Given the description of an element on the screen output the (x, y) to click on. 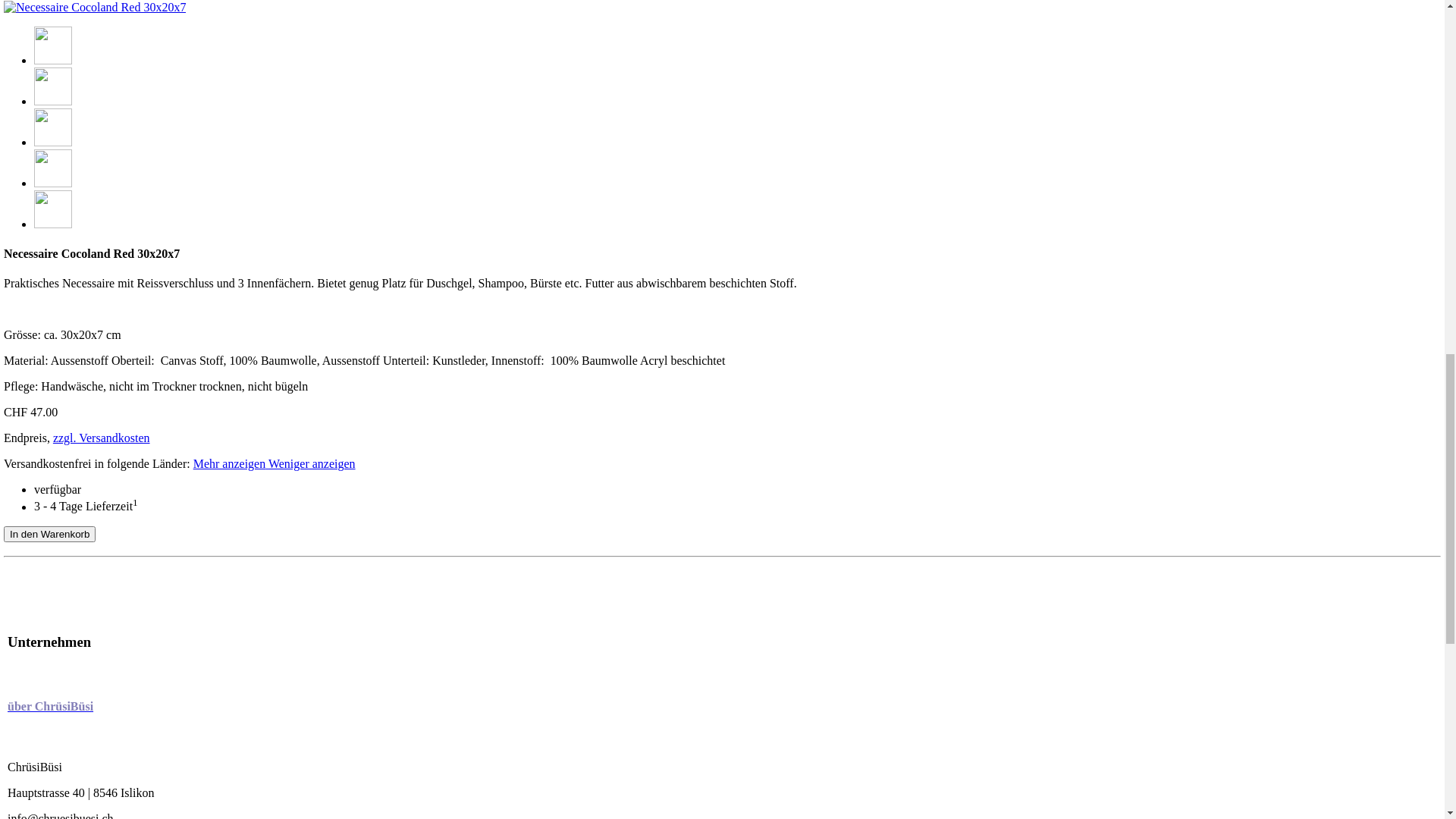
Geschenkgutscheine Element type: text (110, 606)
Fremdfabrikate Element type: text (97, 169)
Taschen Element type: text (49, 142)
Wohnen Element type: text (50, 183)
Adventskalender Element type: text (101, 483)
Necessaires S Element type: text (124, 74)
Etuis Element type: text (72, 128)
Necessaires S Element type: text (63, 793)
grosse Necessaires Element type: text (136, 429)
Taschen & Gym Bags Element type: text (113, 374)
Necessaires Element type: text (89, 60)
Ed the Cat Element type: text (86, 511)
Socken Element type: text (78, 319)
kleine Necessaires Element type: text (136, 401)
Kontakt Element type: text (80, 592)
Wohnen Element type: text (50, 673)
Hundefans Element type: text (56, 360)
Aktuelles Element type: text (53, 714)
Schilder Element type: text (80, 251)
Home Element type: text (44, 33)
Schals Element type: text (76, 306)
Hundefans Element type: text (56, 700)
Laden Element type: text (75, 579)
Etuis Element type: text (42, 646)
Accessoires Element type: text (58, 292)
Necessaires L Element type: text (124, 101)
Necessaires Element type: text (58, 753)
Aktuelles Element type: text (53, 470)
Eigenfabrikate Element type: text (95, 156)
Papeterie Element type: text (83, 279)
Home Element type: text (44, 632)
Taschen Element type: text (49, 659)
Weihnachten Element type: text (91, 497)
Tisch-Dekoration Element type: text (102, 210)
Haushalt Element type: text (81, 238)
mittlere Necessaires Element type: text (139, 415)
Beauty & Gesundheit Element type: text (113, 333)
Baby & Kinder Welt Element type: text (110, 347)
Etuis Element type: text (42, 46)
Necessaires Element type: text (89, 388)
Etuis Element type: text (42, 767)
Newsletter Element type: text (86, 538)
Loops & Socken Element type: text (101, 442)
Necessaires M Element type: text (126, 87)
Deko & Leuchten Element type: text (103, 265)
Necessaires M Element type: text (65, 806)
Kissen Element type: text (77, 456)
Accessoires Element type: text (58, 686)
Necessaires XL Element type: text (129, 115)
Wrendale Element type: text (83, 524)
Kissen & Decken Element type: text (103, 197)
